Given the description of an element on the screen output the (x, y) to click on. 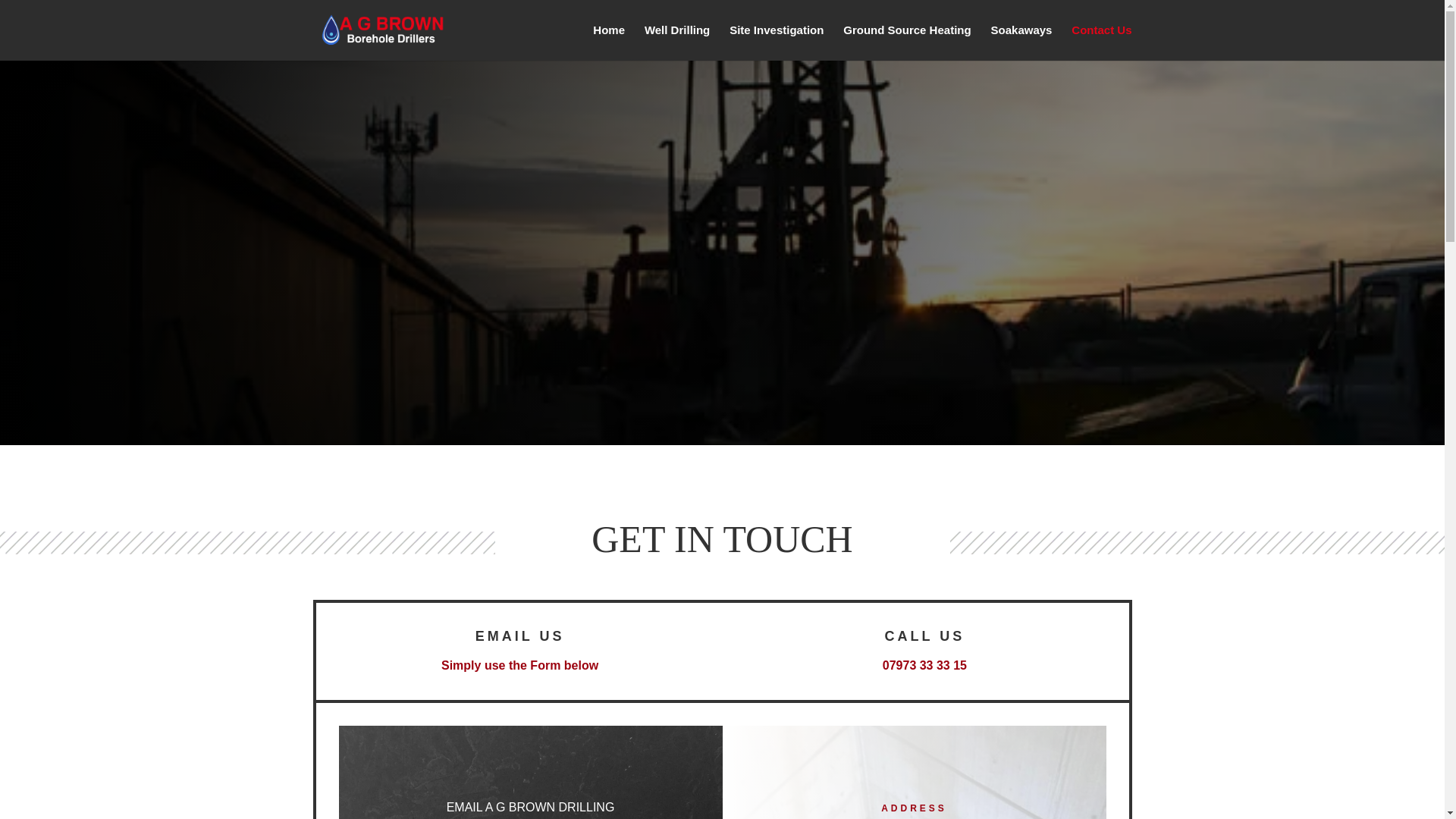
Contact Us (1101, 42)
Soakaways (1021, 42)
Well Drilling (677, 42)
Home (608, 42)
Ground Source Heating (907, 42)
Simply use the Form below (519, 665)
07973 33 33 15 (924, 665)
Site Investigation (776, 42)
